Given the description of an element on the screen output the (x, y) to click on. 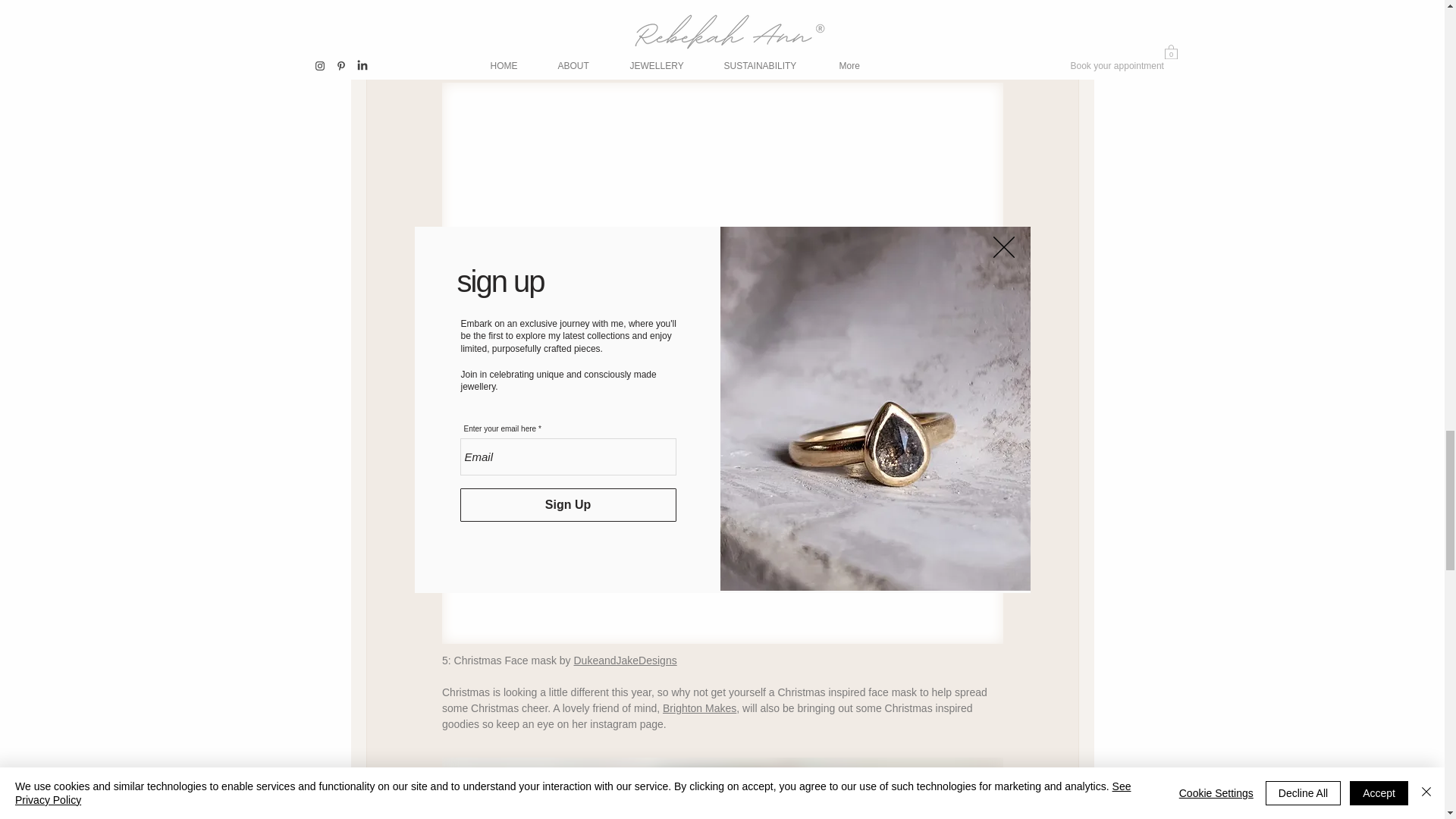
DukeandJakeDesigns (625, 660)
Eco Friend Crackers (501, 3)
